Given the description of an element on the screen output the (x, y) to click on. 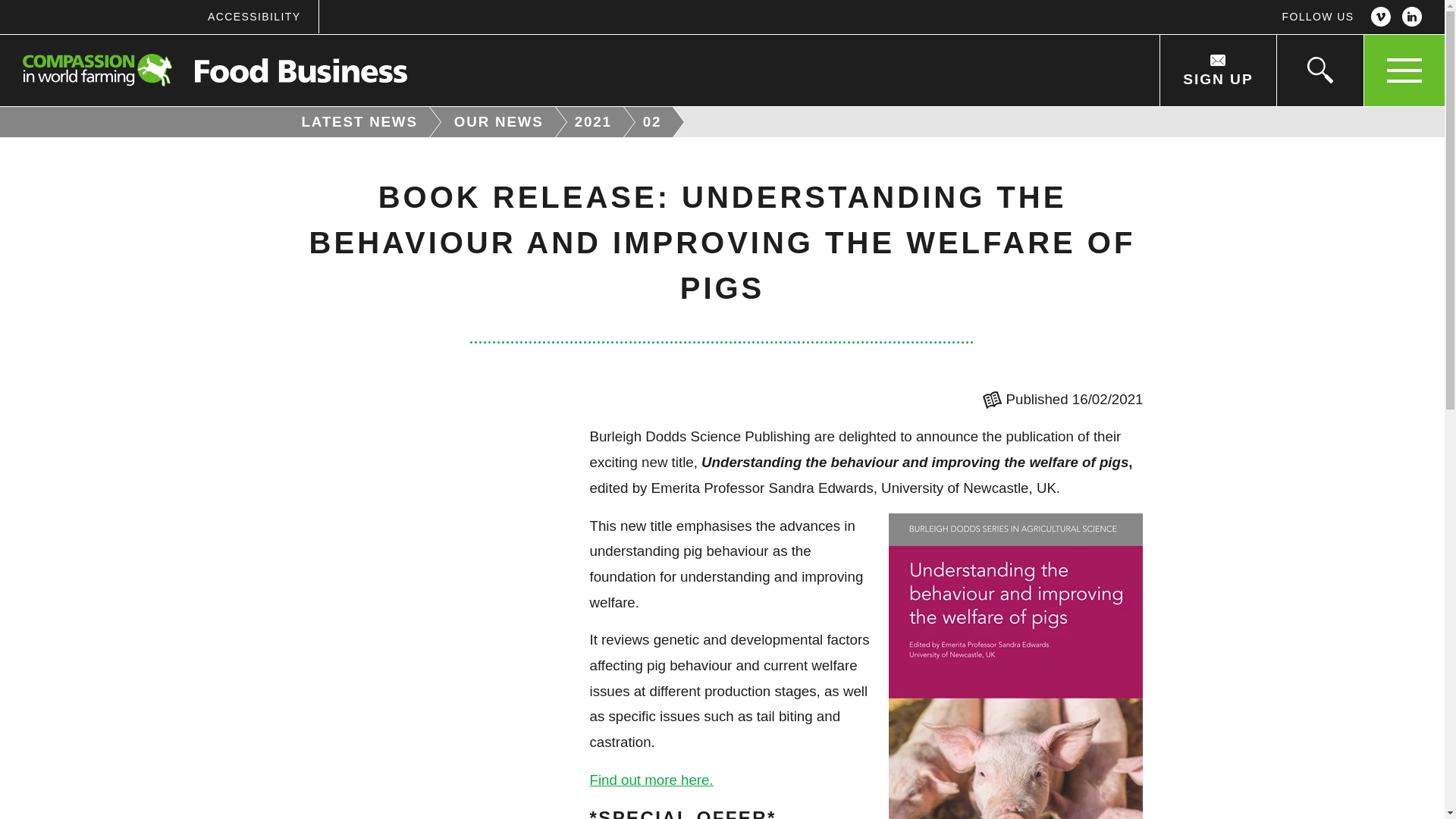
2021 (595, 122)
LATEST NEWS (354, 122)
02 (654, 122)
Vimeo (1380, 16)
LinkedIn (1412, 16)
SIGN UP (1216, 70)
Skip to Content (773, 1)
Find out more here. (651, 779)
ACCESSIBILITY (253, 16)
